Given the description of an element on the screen output the (x, y) to click on. 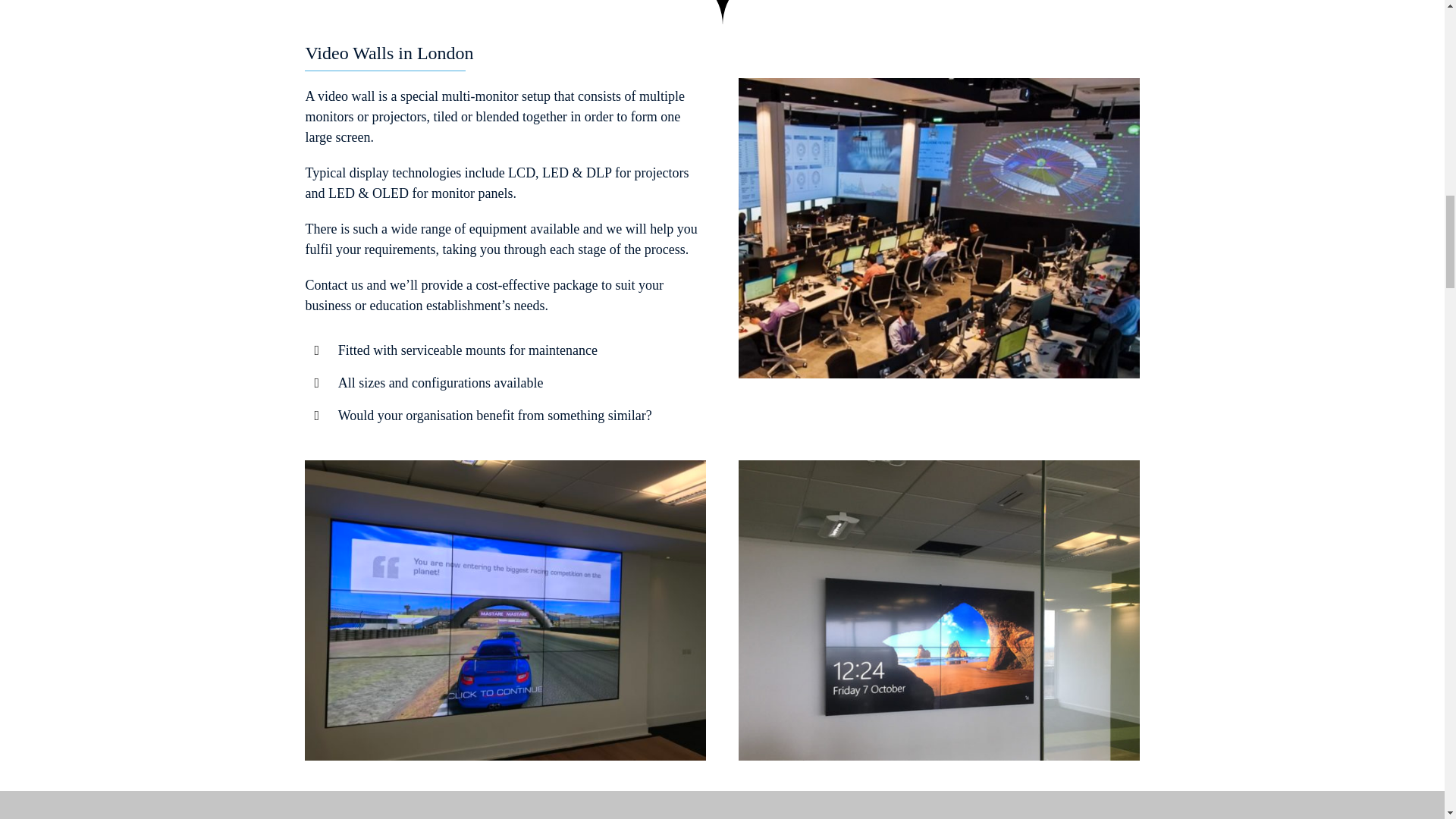
Video wall 2 x 2 (938, 610)
av-solutions-video-wall-1 (504, 610)
corp-Projection-blend-watchout-rhs (938, 227)
